Given the description of an element on the screen output the (x, y) to click on. 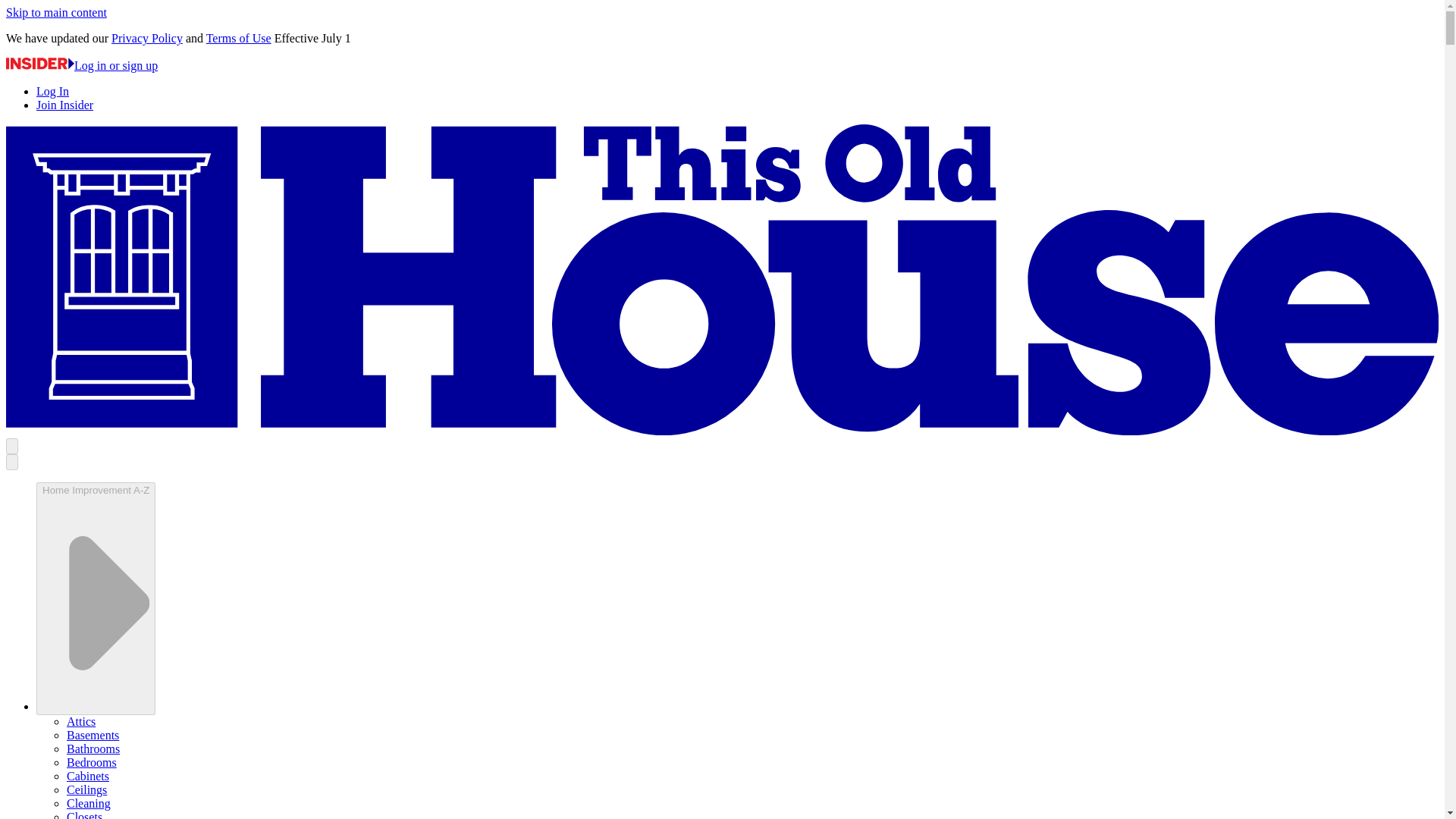
Ceilings (86, 789)
Basements (92, 735)
Skip to main content (55, 11)
Join Insider (64, 104)
Attics (81, 721)
Cleaning (88, 802)
Closets (83, 814)
Log in or sign up (81, 65)
Bathrooms (92, 748)
Privacy Policy (147, 38)
